Given the description of an element on the screen output the (x, y) to click on. 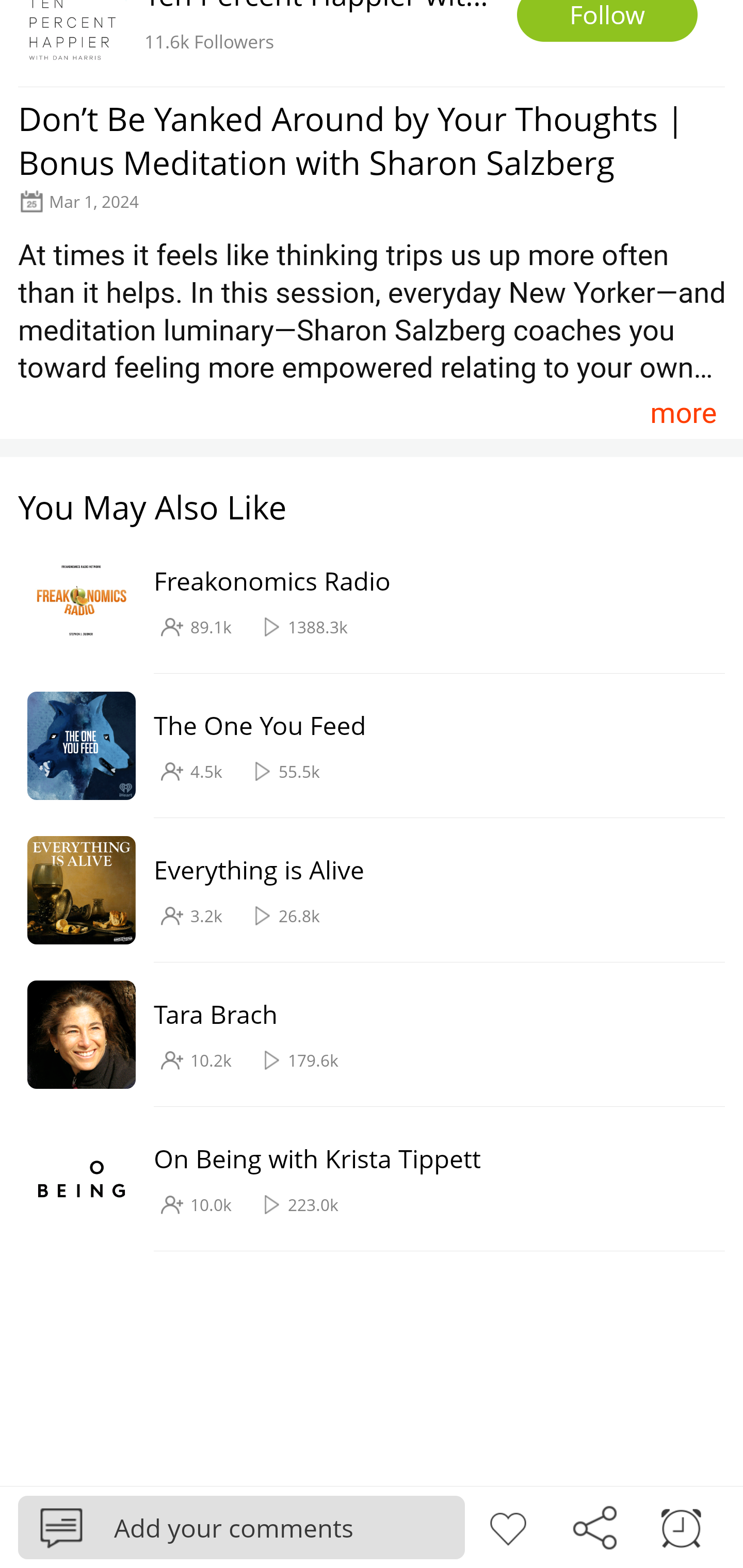
Follow (607, 21)
more (682, 412)
Freakonomics Radio 89.1k 1388.3k (362, 601)
The One You Feed 4.5k 55.5k (362, 746)
Everything is Alive 3.2k 26.8k (362, 890)
Tara Brach 10.2k 179.6k (362, 1034)
On Being with Krista Tippett 10.0k 223.0k (362, 1179)
Like (508, 1526)
Share (594, 1526)
Sleep timer (681, 1526)
Podbean Add your comments (241, 1526)
